Given the description of an element on the screen output the (x, y) to click on. 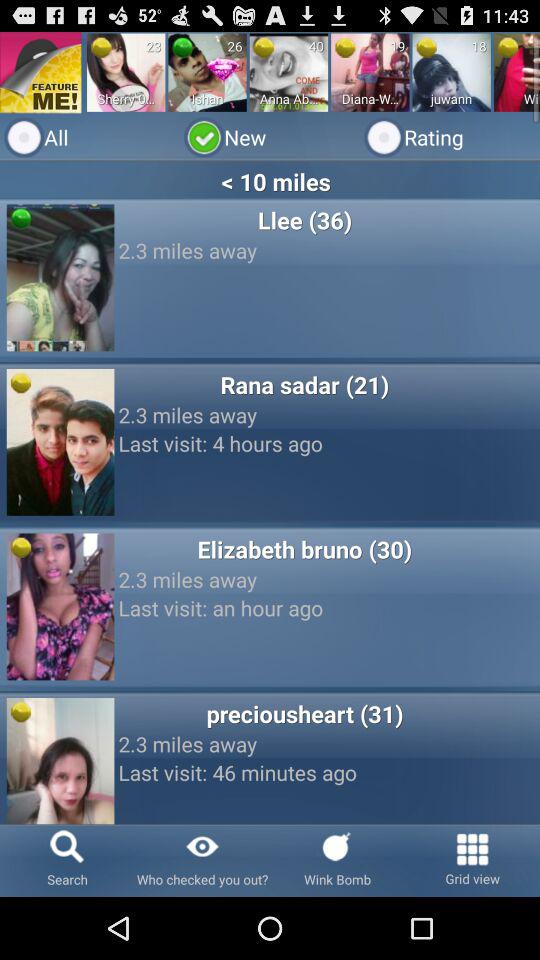
launch the item above ishan (182, 47)
